Given the description of an element on the screen output the (x, y) to click on. 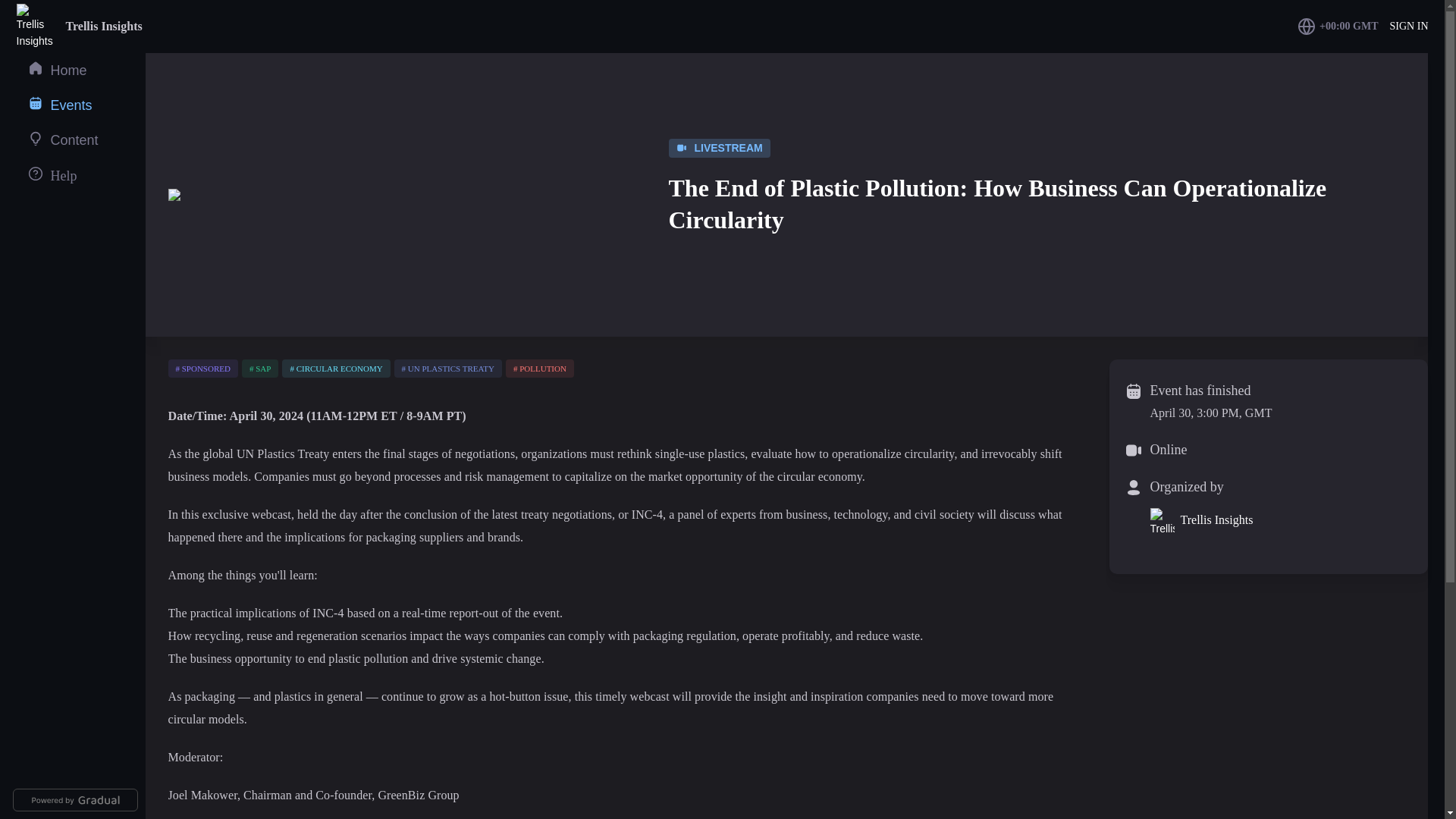
Events (59, 105)
Home (56, 70)
Content (62, 140)
